Given the description of an element on the screen output the (x, y) to click on. 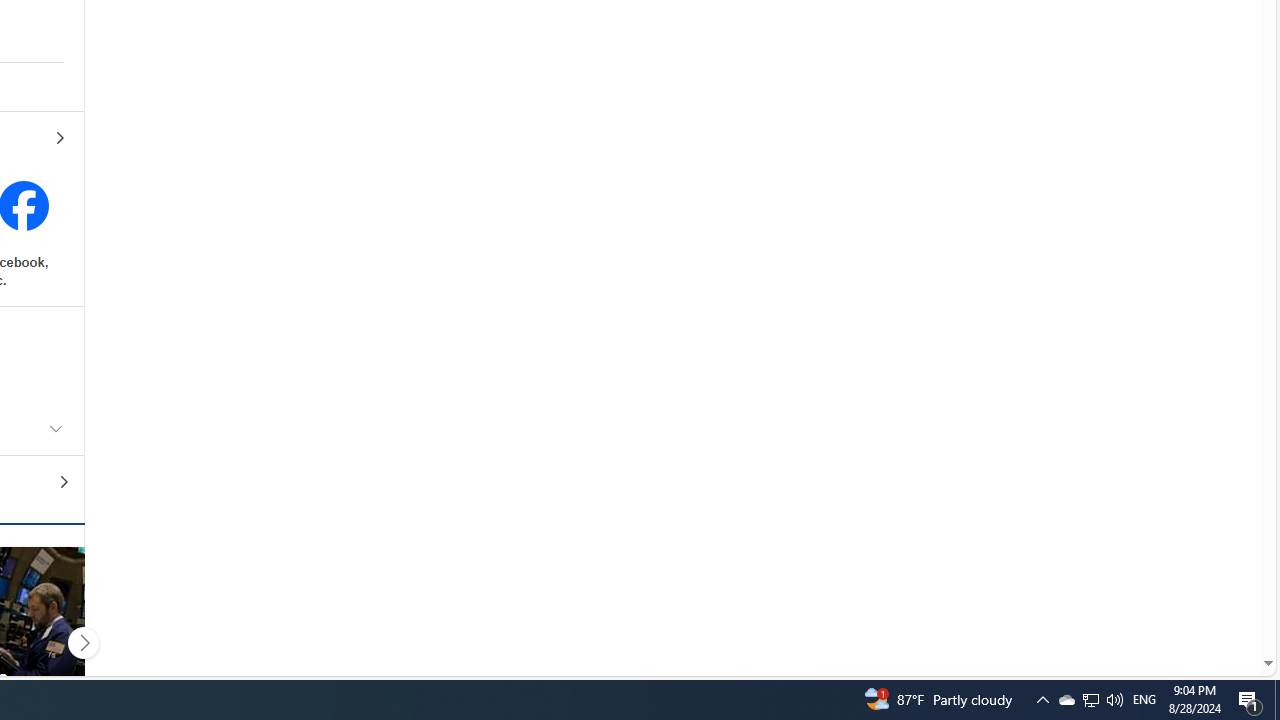
Click to scroll right (83, 642)
AutomationID: mfa_root (1192, 603)
Search more (1222, 604)
